Given the description of an element on the screen output the (x, y) to click on. 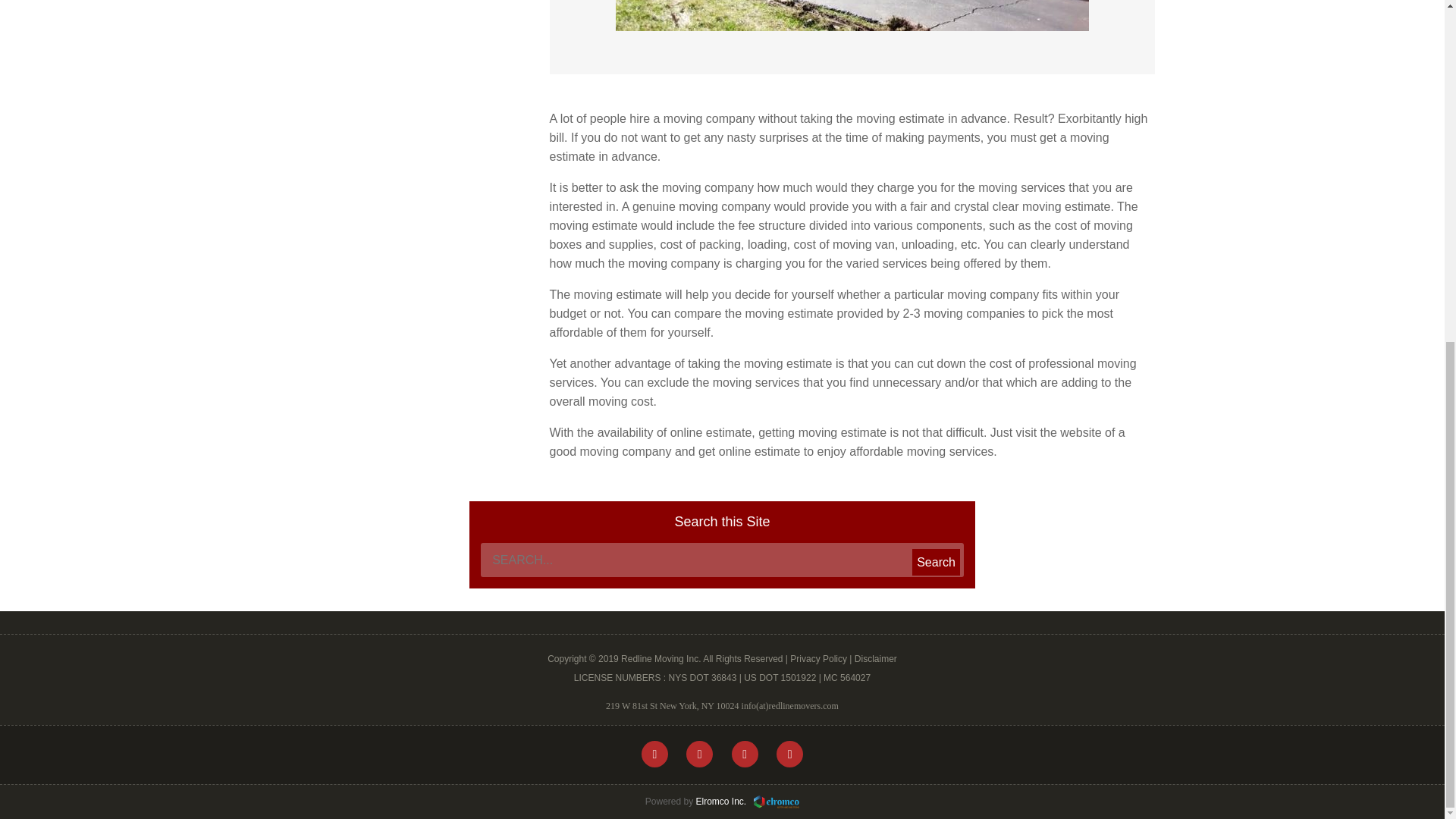
We are on linkedin (789, 754)
We are on google plus (745, 754)
We are on twitter (699, 754)
We are on facebook (655, 754)
Search (935, 561)
